Given the description of an element on the screen output the (x, y) to click on. 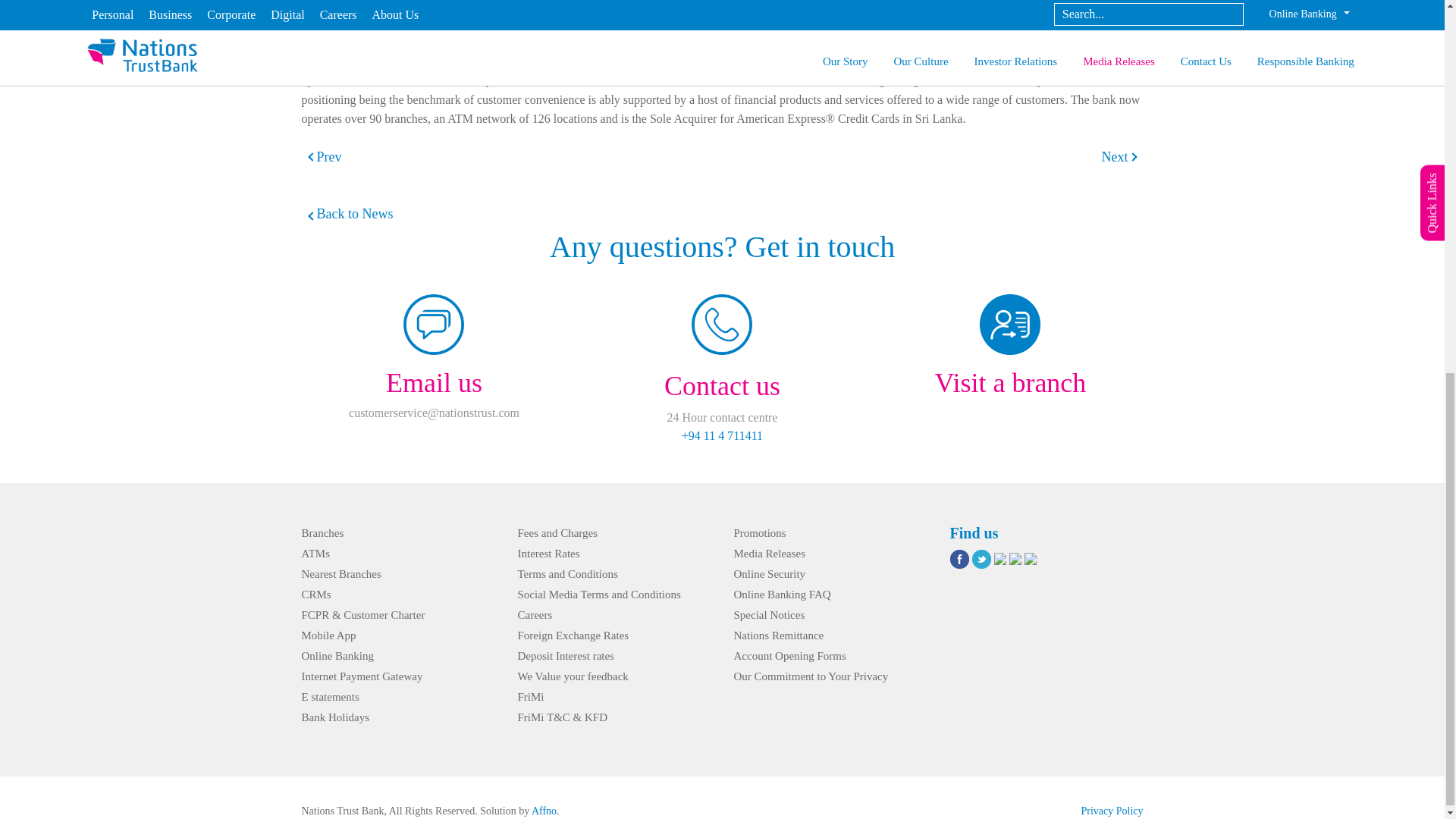
Branches (322, 532)
Mobile App (328, 635)
Interest Rates (547, 553)
CRMs (316, 594)
Contact us (721, 385)
Online Banking (337, 655)
Social Media Terms and Conditions (597, 594)
Foreign Exchange Rates (572, 635)
Bank Holidays (335, 717)
Internet Payment Gateway (362, 676)
